Given the description of an element on the screen output the (x, y) to click on. 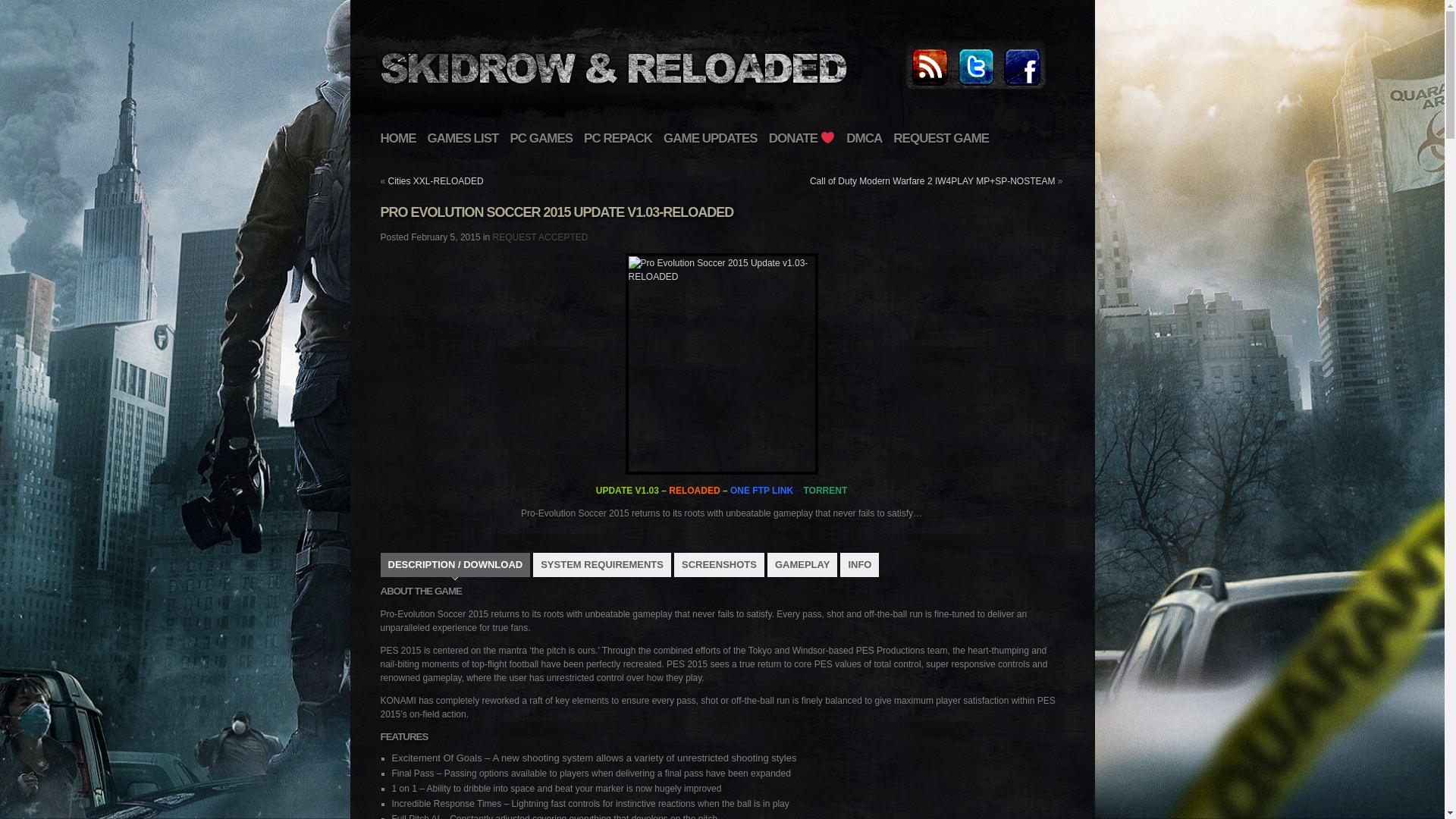
SYSTEM REQUIREMENTS (601, 564)
GAME UPDATES (710, 138)
GAMES LIST (463, 138)
HOME (398, 138)
INFO (859, 564)
SCREENSHOTS (719, 564)
REQUEST ACCEPTED (540, 236)
GAMEPLAY (802, 564)
PC REPACK (617, 138)
PC GAMES (540, 138)
DMCA (863, 138)
REQUEST GAME (940, 138)
Cities XXL-RELOADED (435, 181)
DONATE (801, 138)
